Given the description of an element on the screen output the (x, y) to click on. 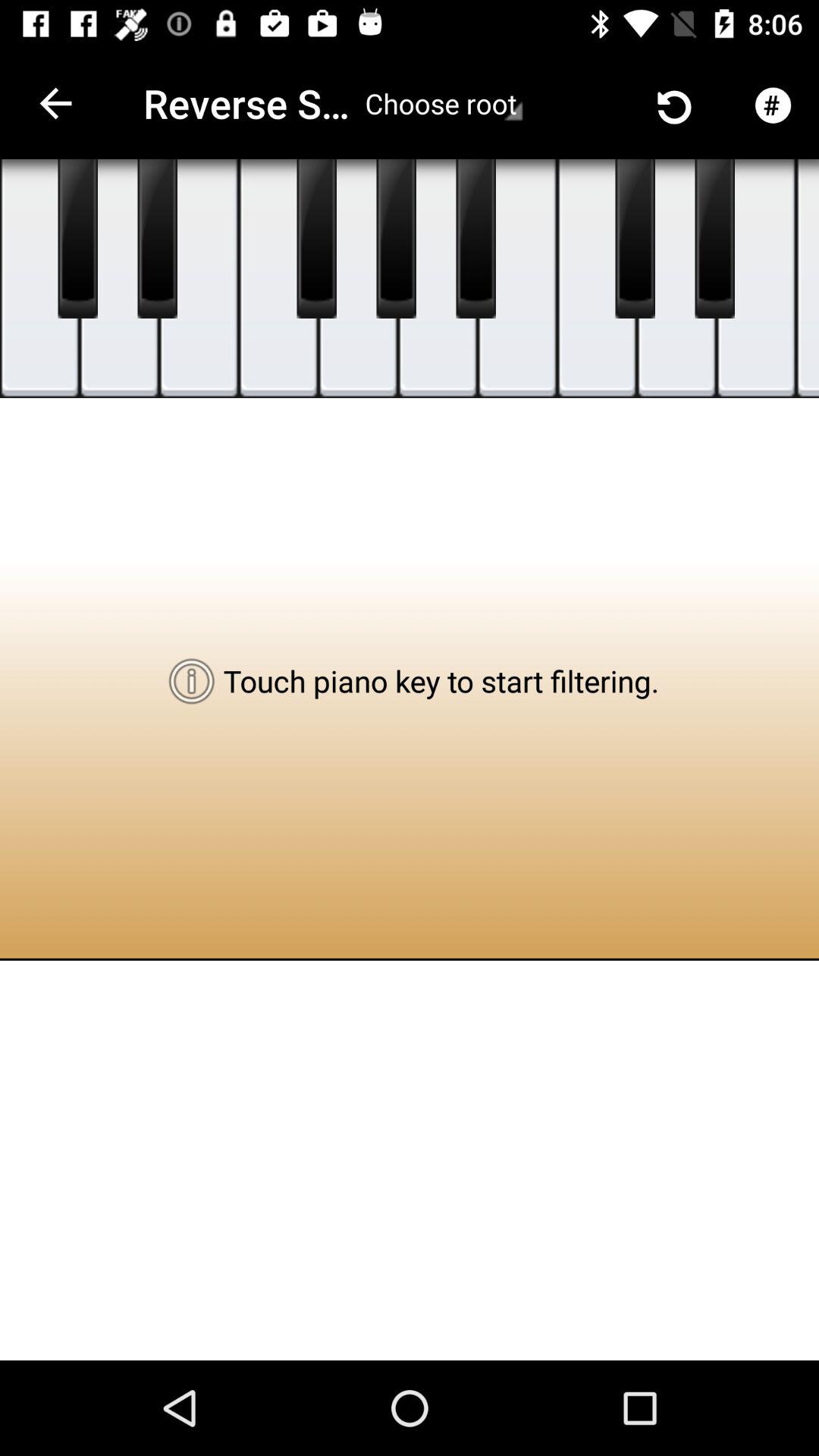
piano key (396, 238)
